Given the description of an element on the screen output the (x, y) to click on. 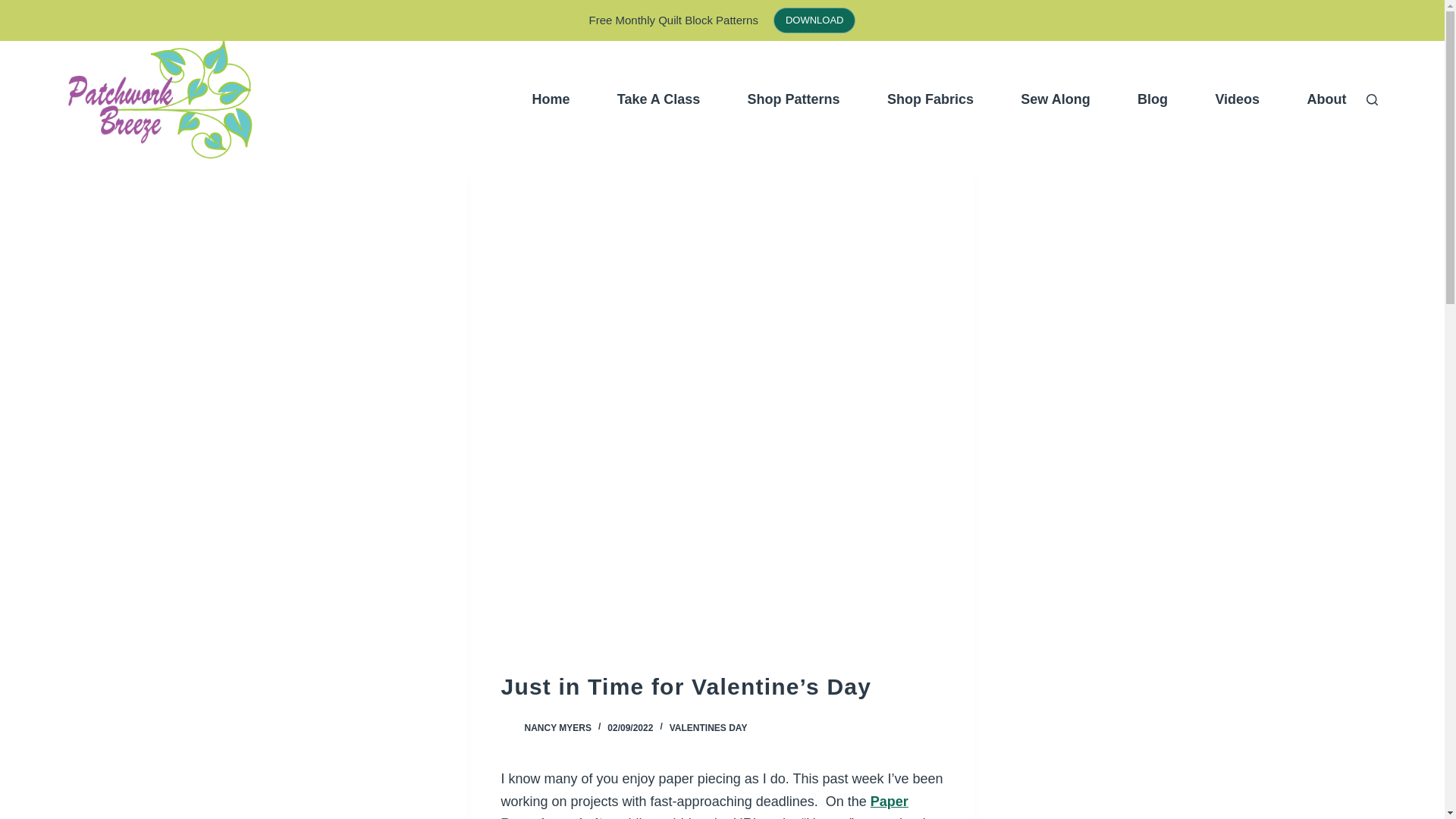
DOWNLOAD (814, 20)
VALENTINES DAY (708, 727)
Paper Panache website (703, 806)
Posts by Nancy Myers (557, 727)
NANCY MYERS (557, 727)
Skip to content (15, 7)
